Given the description of an element on the screen output the (x, y) to click on. 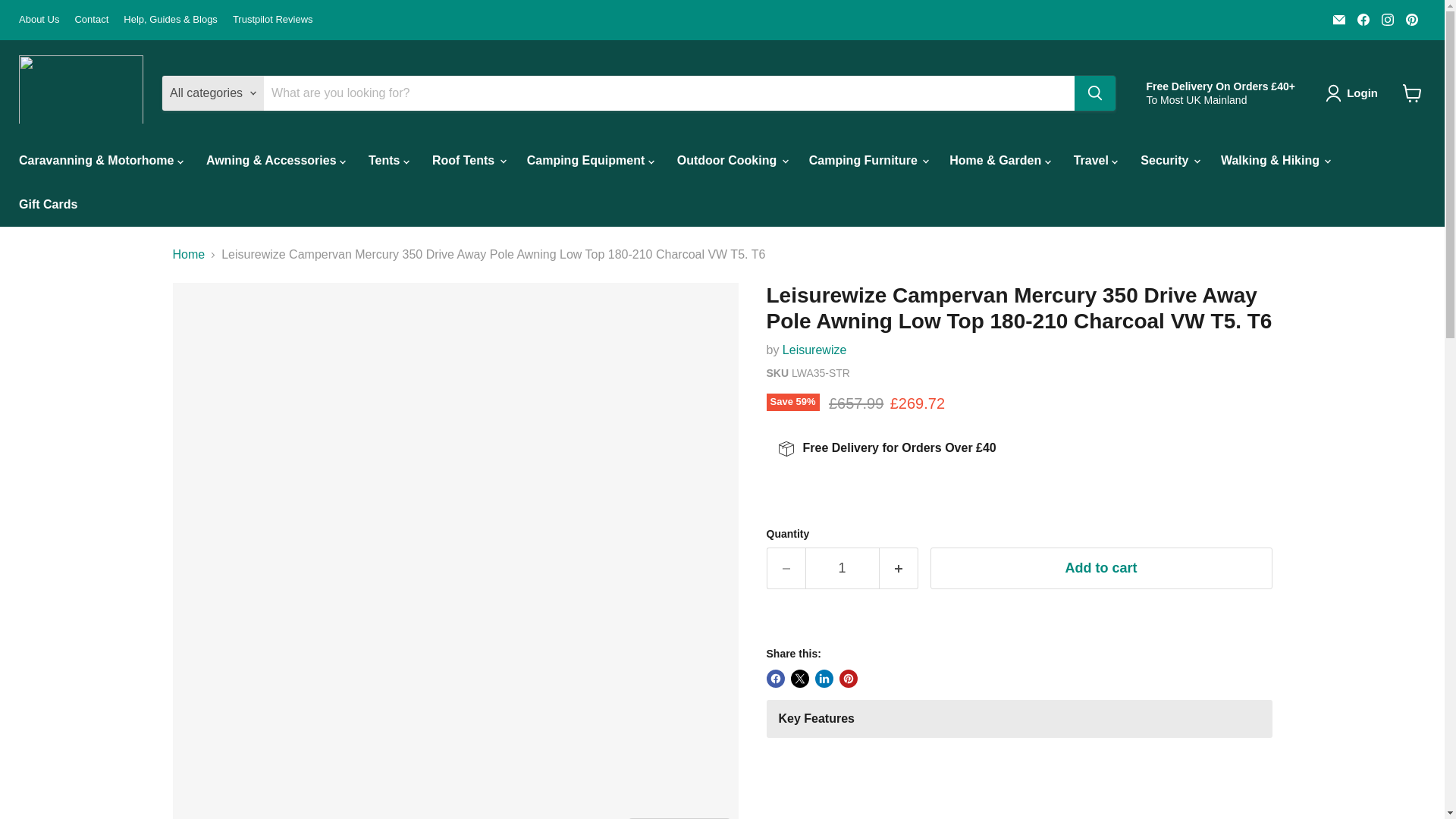
Email (1338, 19)
About Us (38, 19)
Leisurewize (814, 349)
Contact (90, 19)
1 (842, 567)
Email UK Camping And Leisure (1338, 19)
Instagram (1387, 19)
Trustpilot Reviews (272, 19)
Find us on Pinterest (1411, 19)
Facebook (1363, 19)
